Given the description of an element on the screen output the (x, y) to click on. 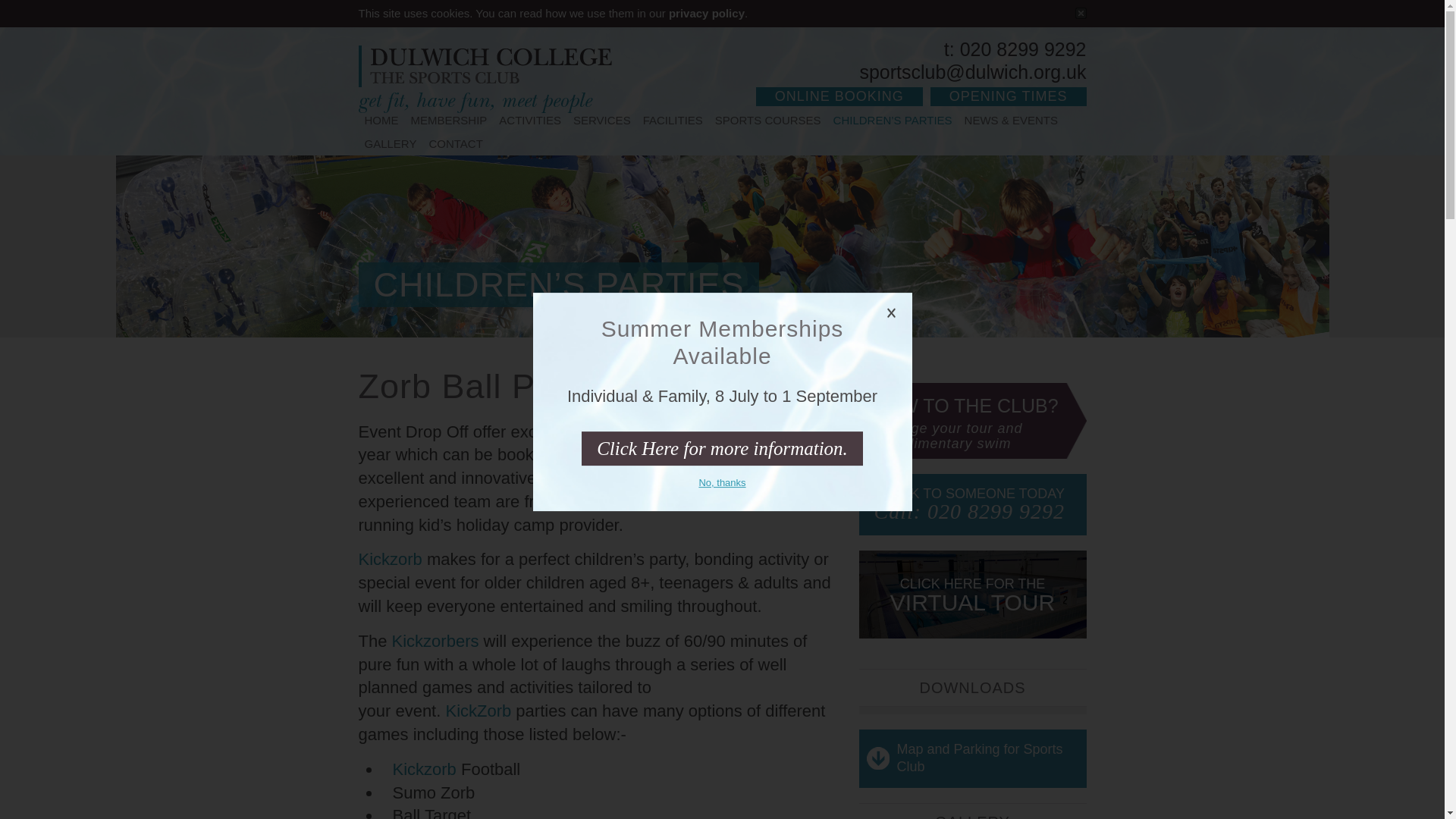
MEMBERSHIP (448, 121)
OPENING TIMES (1008, 96)
privacy policy (706, 12)
ACTIVITIES (529, 121)
ONLINE BOOKING (839, 96)
HOME (380, 121)
Click Here for more information. (721, 448)
No, thanks (721, 482)
